Given the description of an element on the screen output the (x, y) to click on. 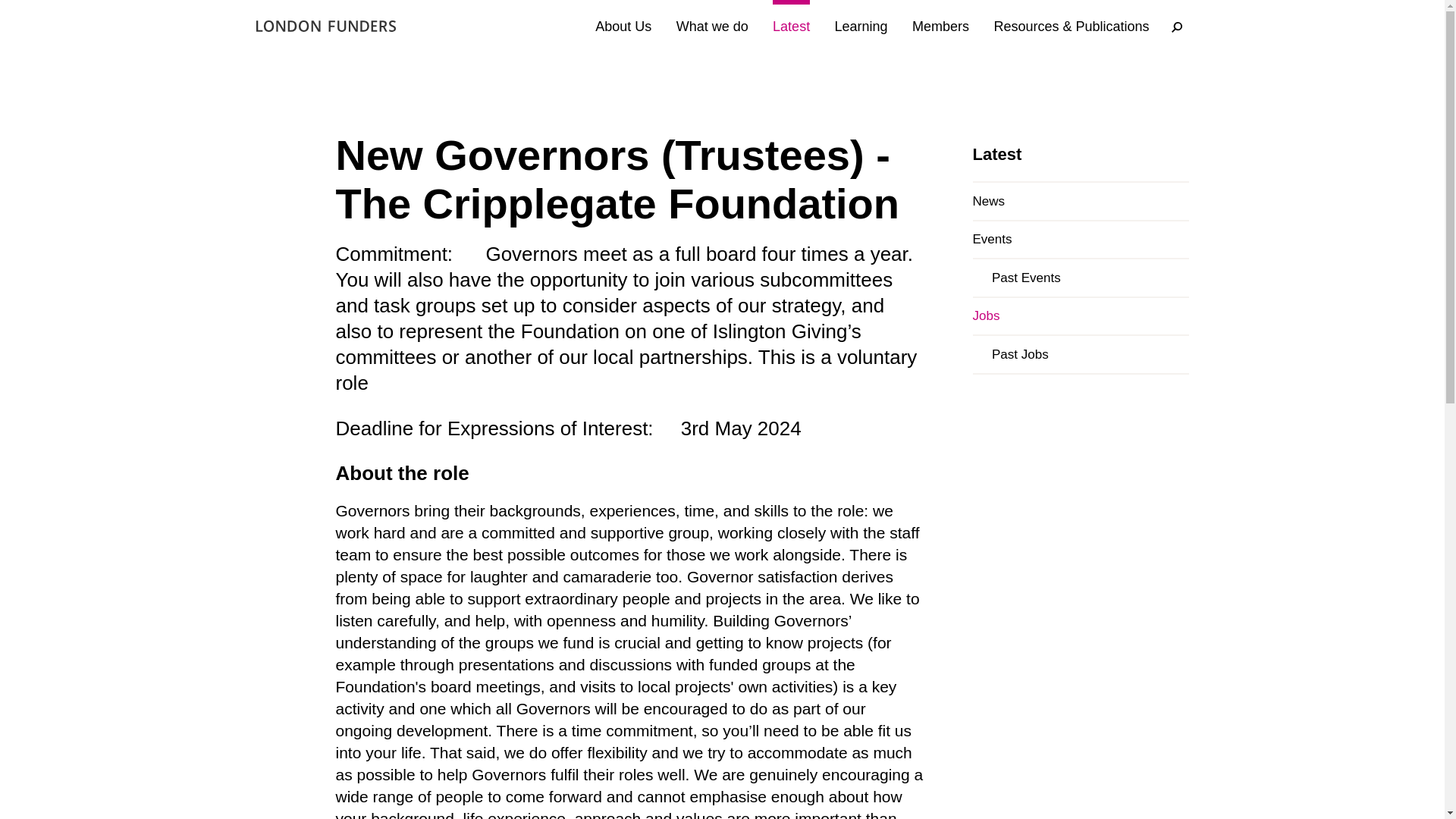
What we do (712, 27)
Home (326, 26)
About Us (622, 27)
